Given the description of an element on the screen output the (x, y) to click on. 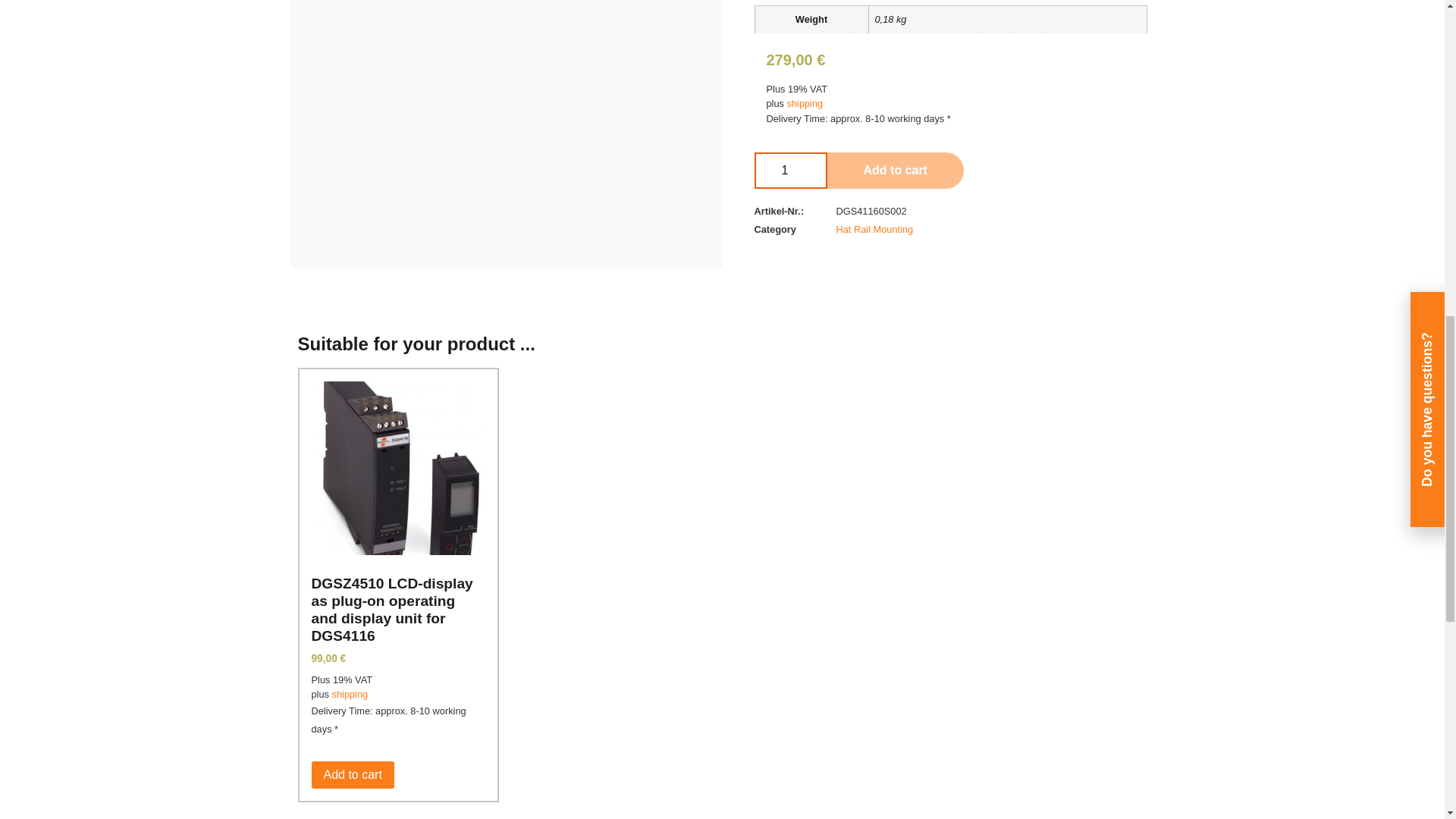
1 (790, 170)
dgs4116-digital-limit-opunit4510-0010 (888, 74)
